Given the description of an element on the screen output the (x, y) to click on. 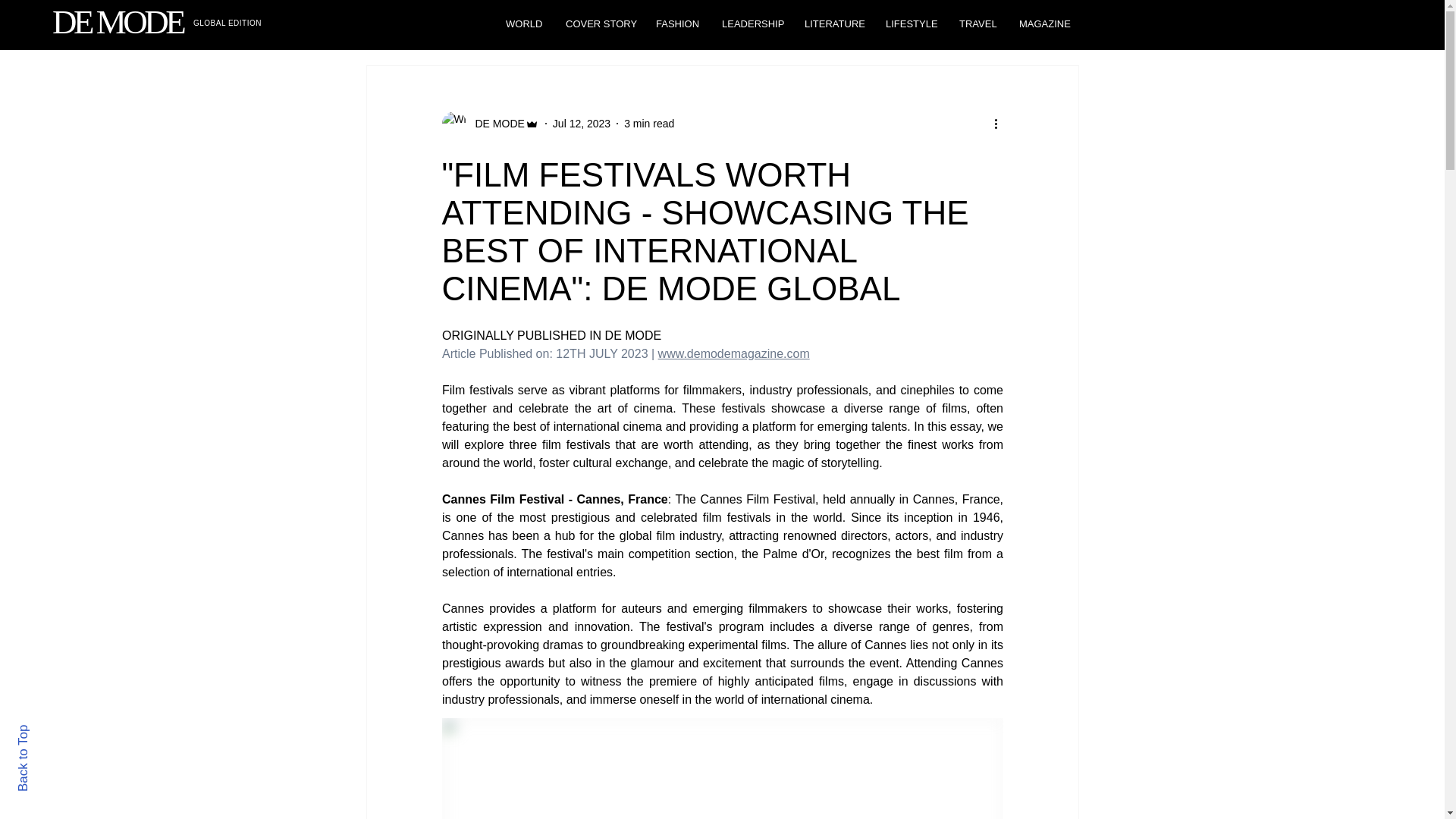
Jul 12, 2023 (581, 122)
MAGAZINE (1044, 24)
www.demodemagazine.com (733, 353)
COVER STORY (599, 24)
TRAVEL (977, 24)
Back to Top (49, 730)
LIFESTYLE (911, 24)
DE MODE (117, 21)
3 min read (649, 122)
FASHION (677, 24)
LEADERSHIP (751, 24)
DE MODE (489, 123)
DE MODE (494, 123)
LITERATURE (834, 24)
WORLD (524, 24)
